Given the description of an element on the screen output the (x, y) to click on. 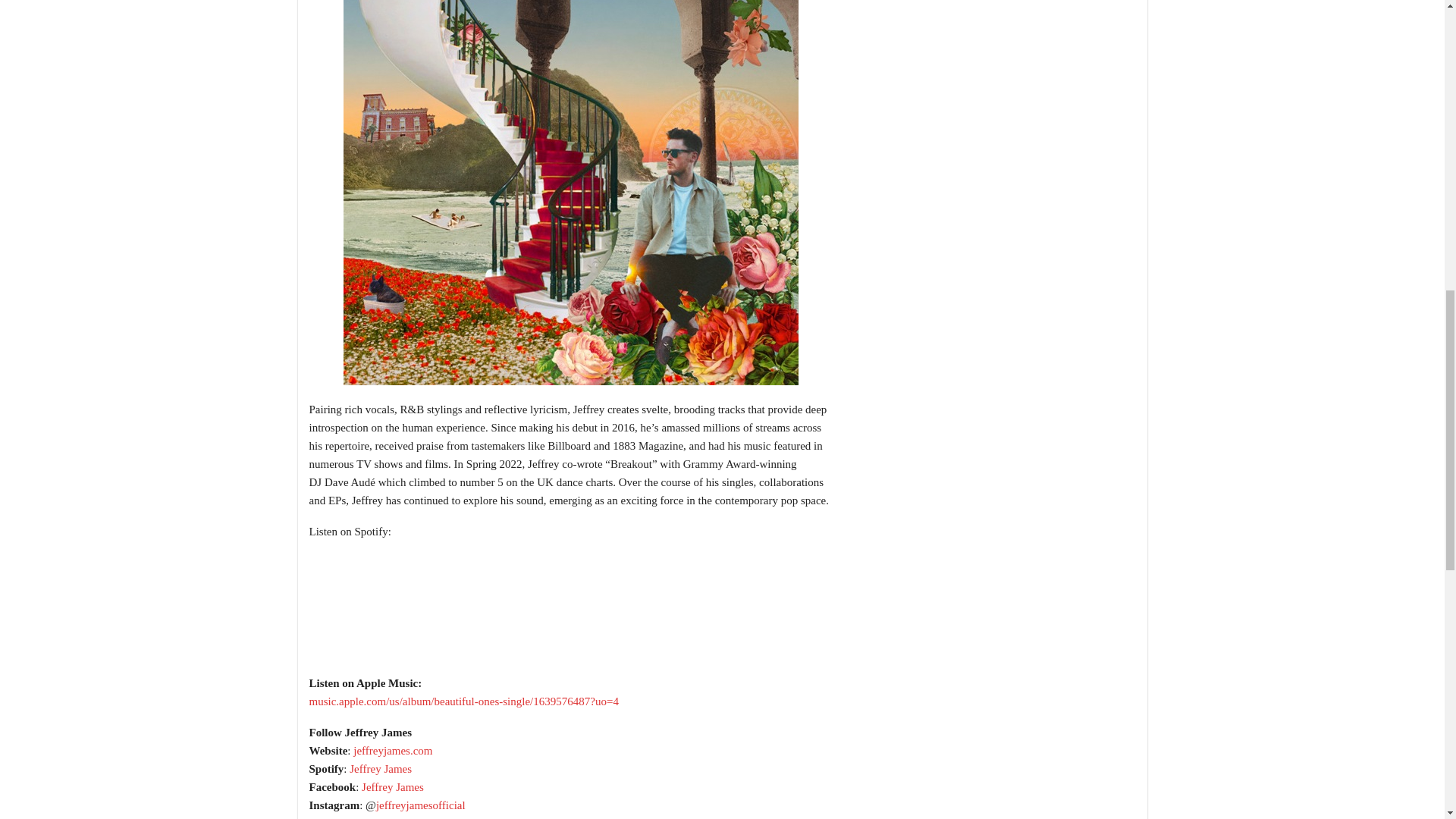
Spotify Embed: Beautiful Ones (570, 611)
jeffreyjames (389, 818)
jeffreyjames.com (392, 750)
jeffreyjamesofficial (420, 805)
Jeffrey James (380, 768)
Jeffrey James (392, 787)
